Given the description of an element on the screen output the (x, y) to click on. 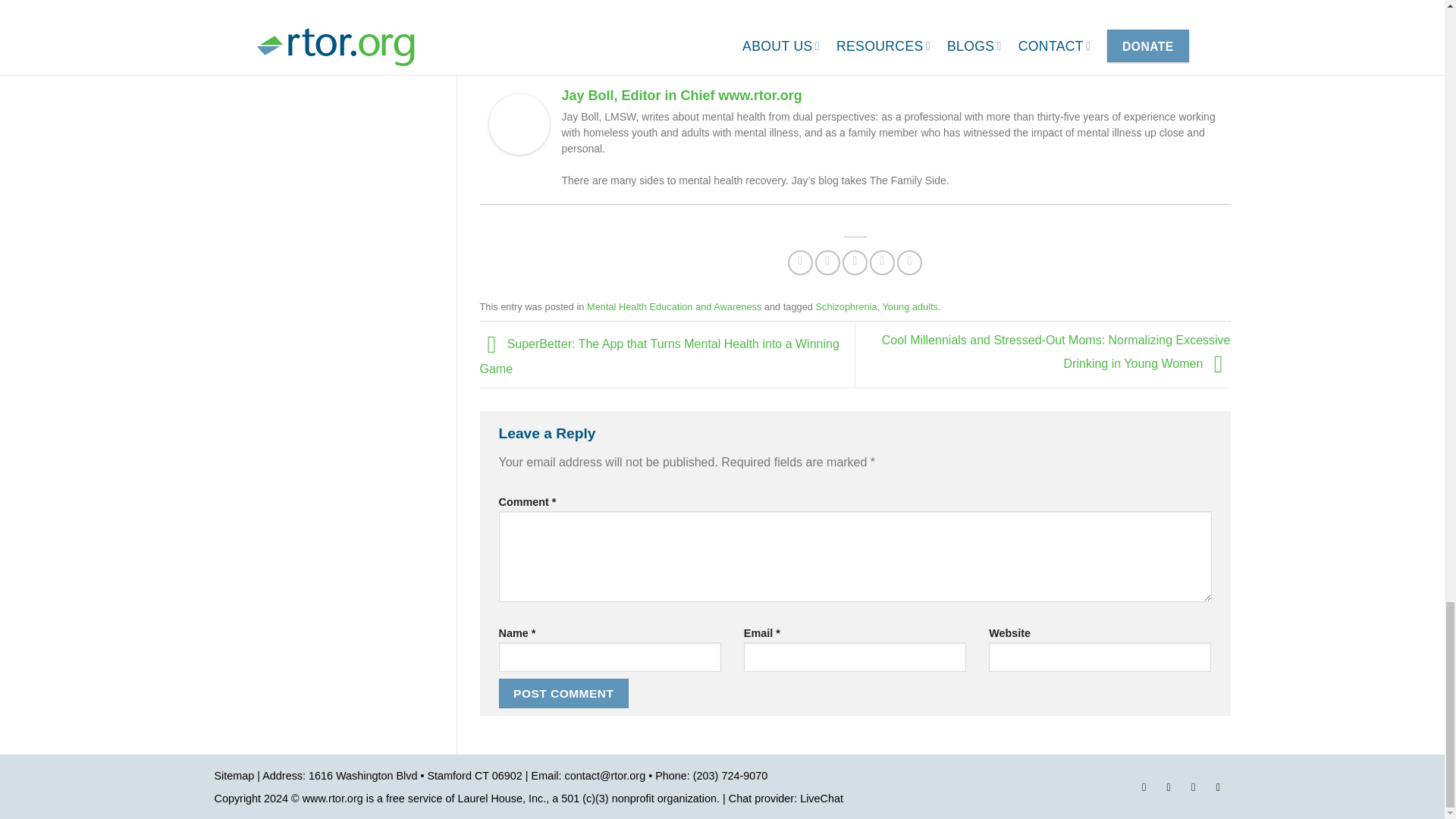
Follow on Facebook (1144, 789)
Follow on Instagram (1168, 789)
Subscribe to RSS (1217, 789)
Post Comment (563, 693)
Jay Boll, Editor in Chief www.rtor.org (517, 123)
Share on Twitter (827, 262)
Email to a Friend (855, 262)
Follow on Twitter (1193, 789)
Share on LinkedIn (908, 262)
Pin on Pinterest (882, 262)
Share on Facebook (799, 262)
